Given the description of an element on the screen output the (x, y) to click on. 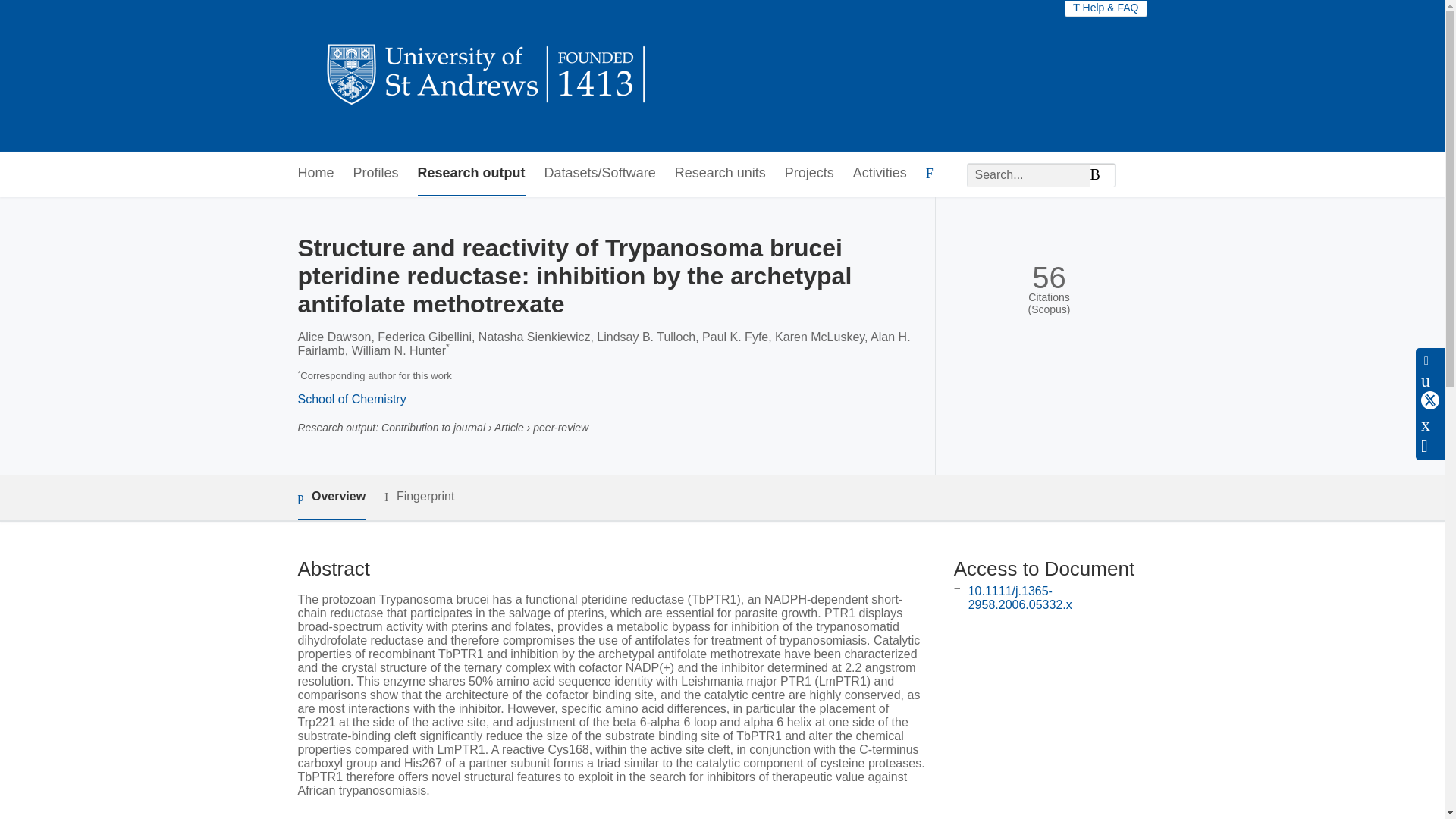
Projects (809, 173)
University of St Andrews Research Portal Home (487, 75)
School of Chemistry (351, 399)
Activities (880, 173)
Fingerprint (419, 496)
Overview (331, 497)
Research output (471, 173)
Research units (720, 173)
Profiles (375, 173)
